Given the description of an element on the screen output the (x, y) to click on. 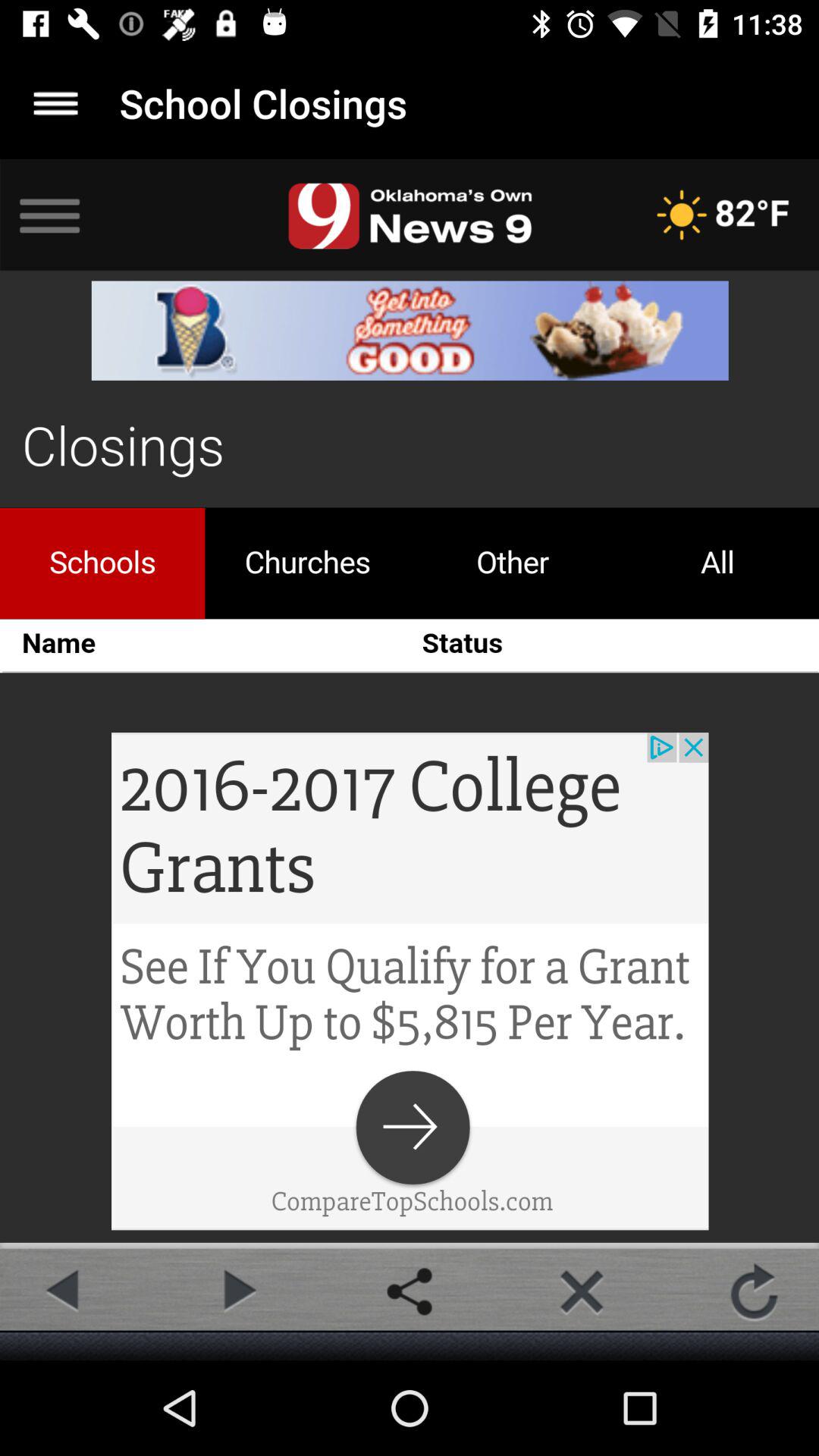
foward (237, 1291)
